Given the description of an element on the screen output the (x, y) to click on. 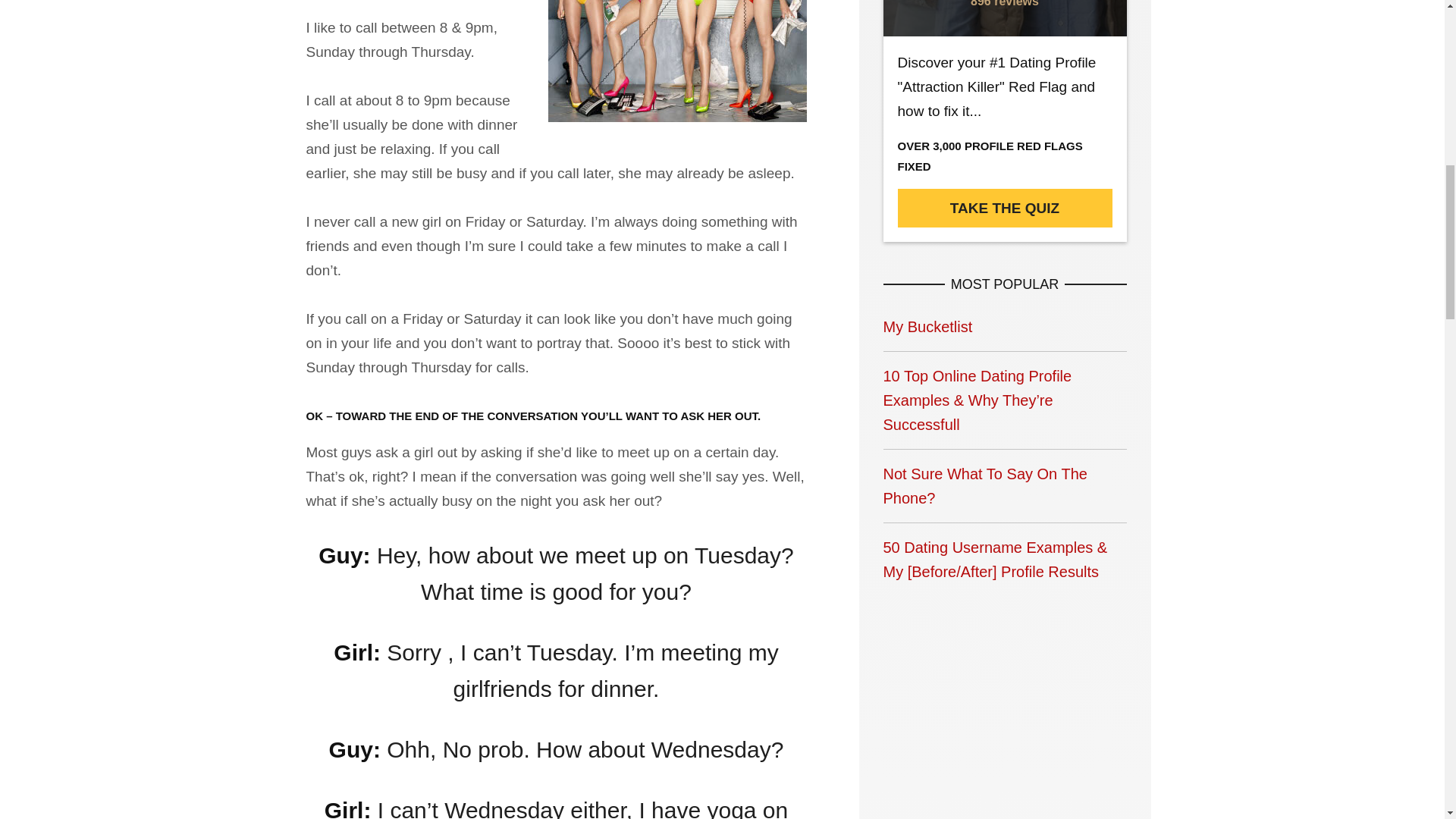
Not Sure What To Say On The Phone? (1003, 485)
TAKE THE QUIZ (1005, 208)
How to ask a girl out (676, 61)
My Bucketlist (1003, 326)
